Given the description of an element on the screen output the (x, y) to click on. 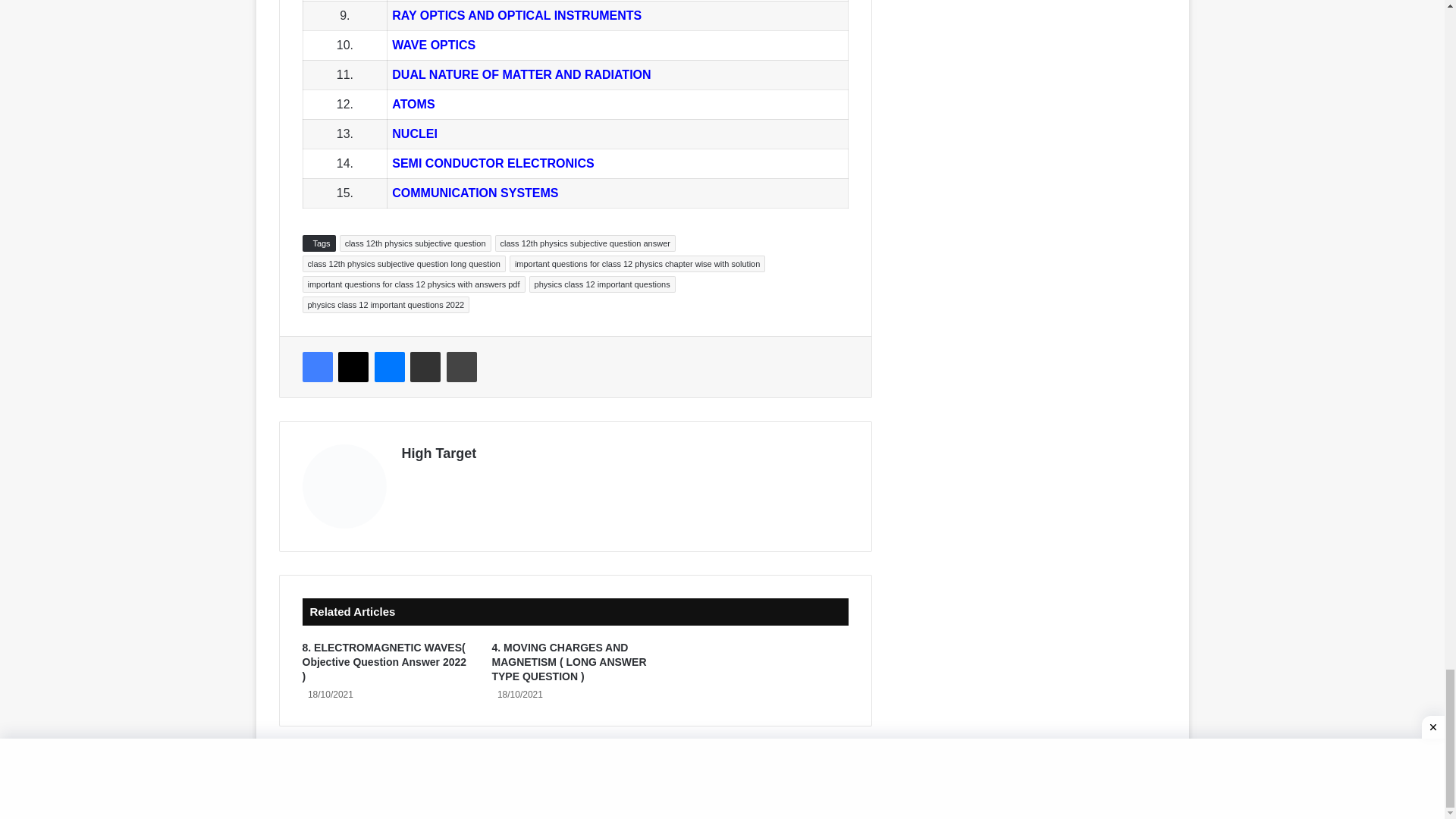
NUCLEI (414, 133)
WAVE OPTICS (433, 44)
X (352, 367)
Facebook (316, 367)
ATOMS (412, 103)
RAY OPTICS AND OPTICAL INSTRUMENTS (516, 15)
Messenger (389, 367)
DUAL NATURE OF MATTER AND RADIATION (520, 74)
Print (461, 367)
Share via Email (425, 367)
SEMI CONDUCTOR ELECTRONICS  (493, 163)
